Given the description of an element on the screen output the (x, y) to click on. 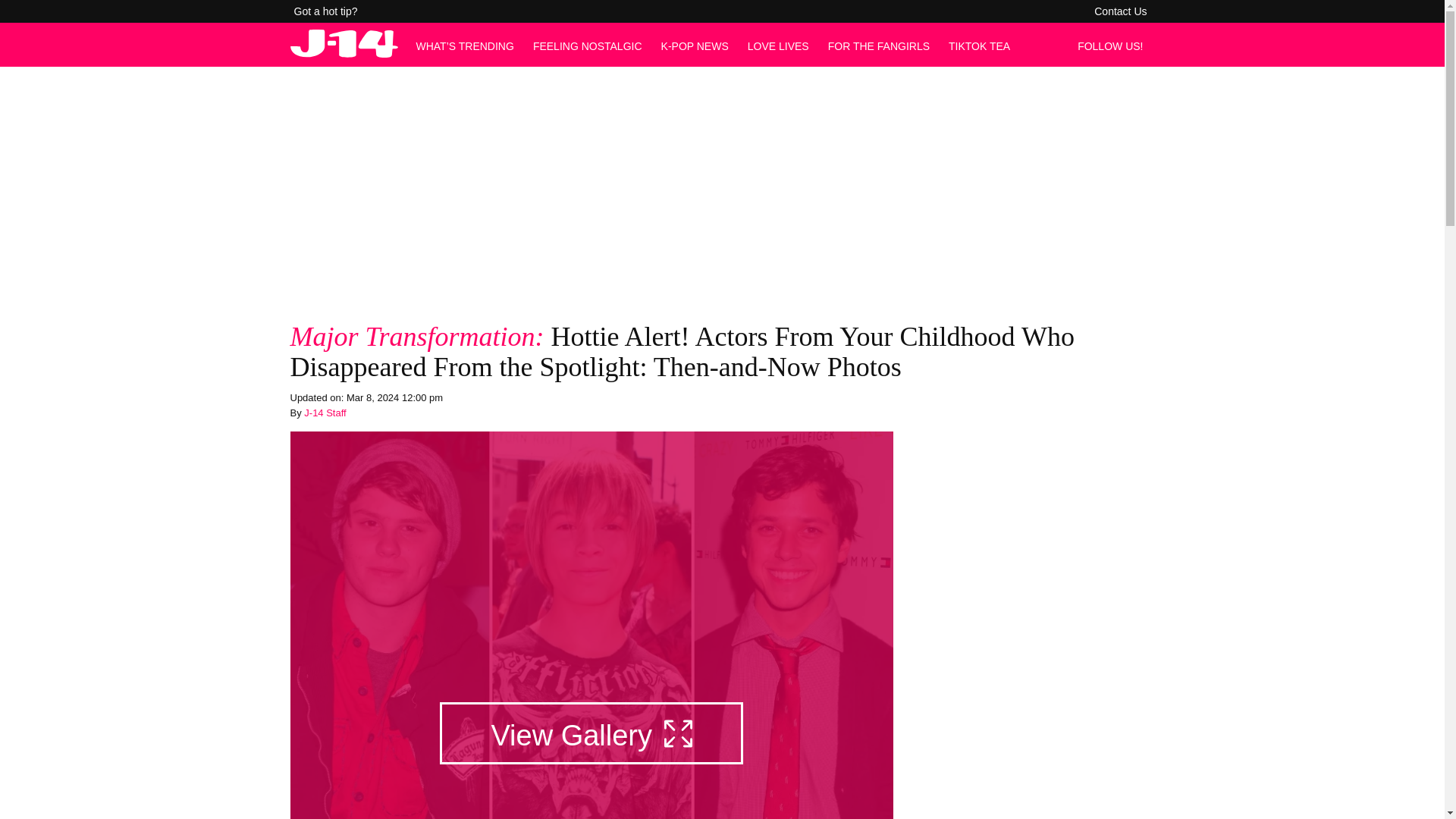
Home (343, 52)
K-POP NEWS (695, 46)
FOLLOW US! (1114, 45)
J-14 Staff (325, 412)
TIKTOK TEA (979, 46)
FOR THE FANGIRLS (879, 46)
Posts by J-14 Staff (325, 412)
FEELING NOSTALGIC (587, 46)
Got a hot tip? (325, 11)
LOVE LIVES (778, 46)
